Given the description of an element on the screen output the (x, y) to click on. 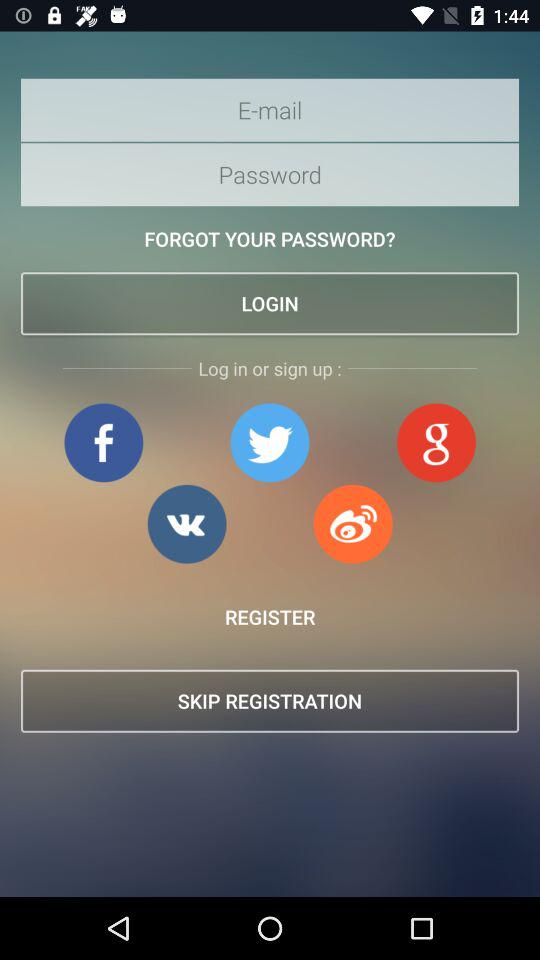
login with google (436, 442)
